Given the description of an element on the screen output the (x, y) to click on. 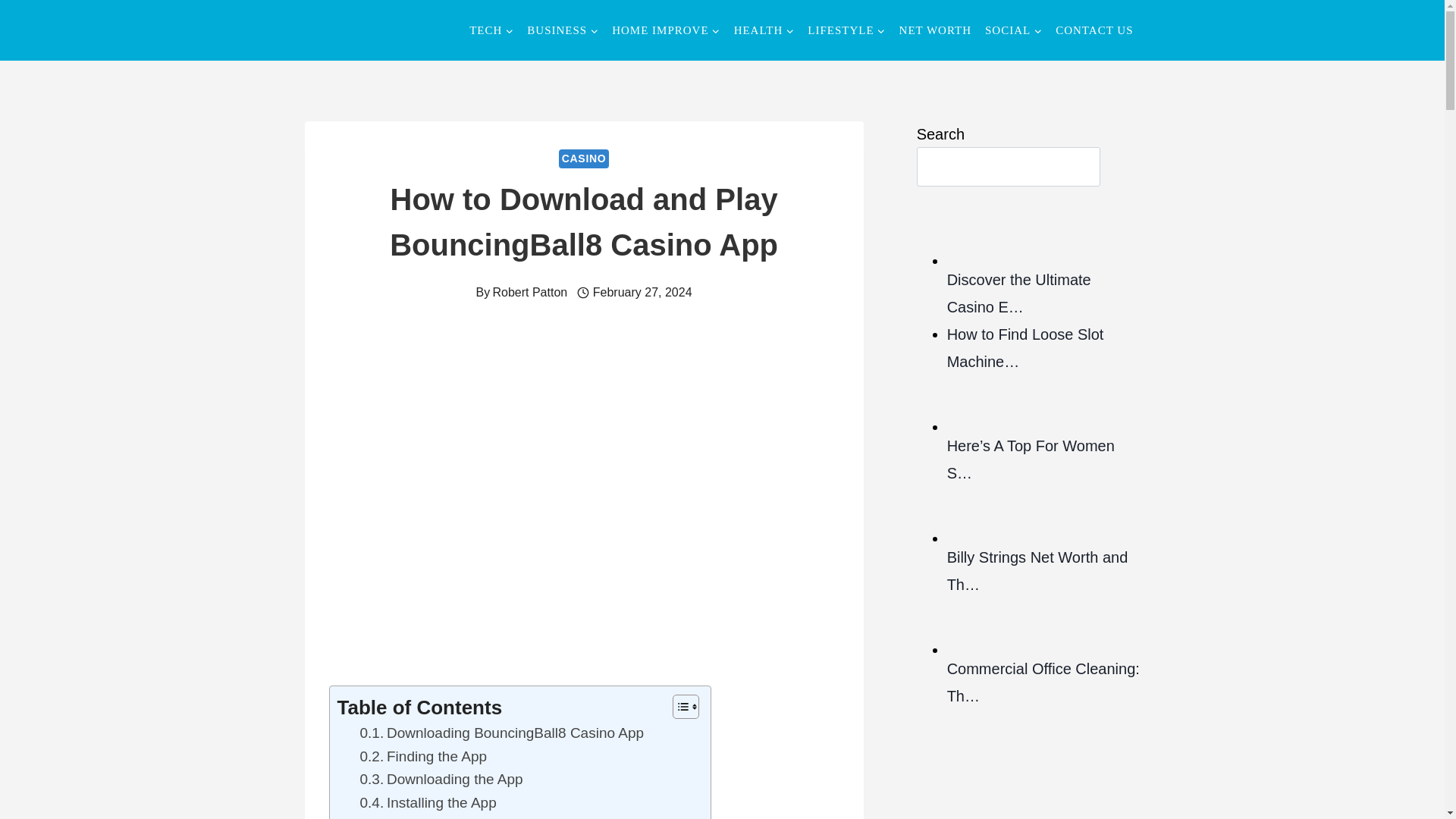
HOME IMPROVE (665, 30)
Creating an Account (437, 816)
Downloading the App (440, 779)
BUSINESS (562, 30)
Installing the App (427, 802)
Downloading BouncingBall8 Casino App (501, 732)
TECH (491, 30)
Finding the App (422, 756)
LIFESTYLE (845, 30)
HEALTH (764, 30)
